Given the description of an element on the screen output the (x, y) to click on. 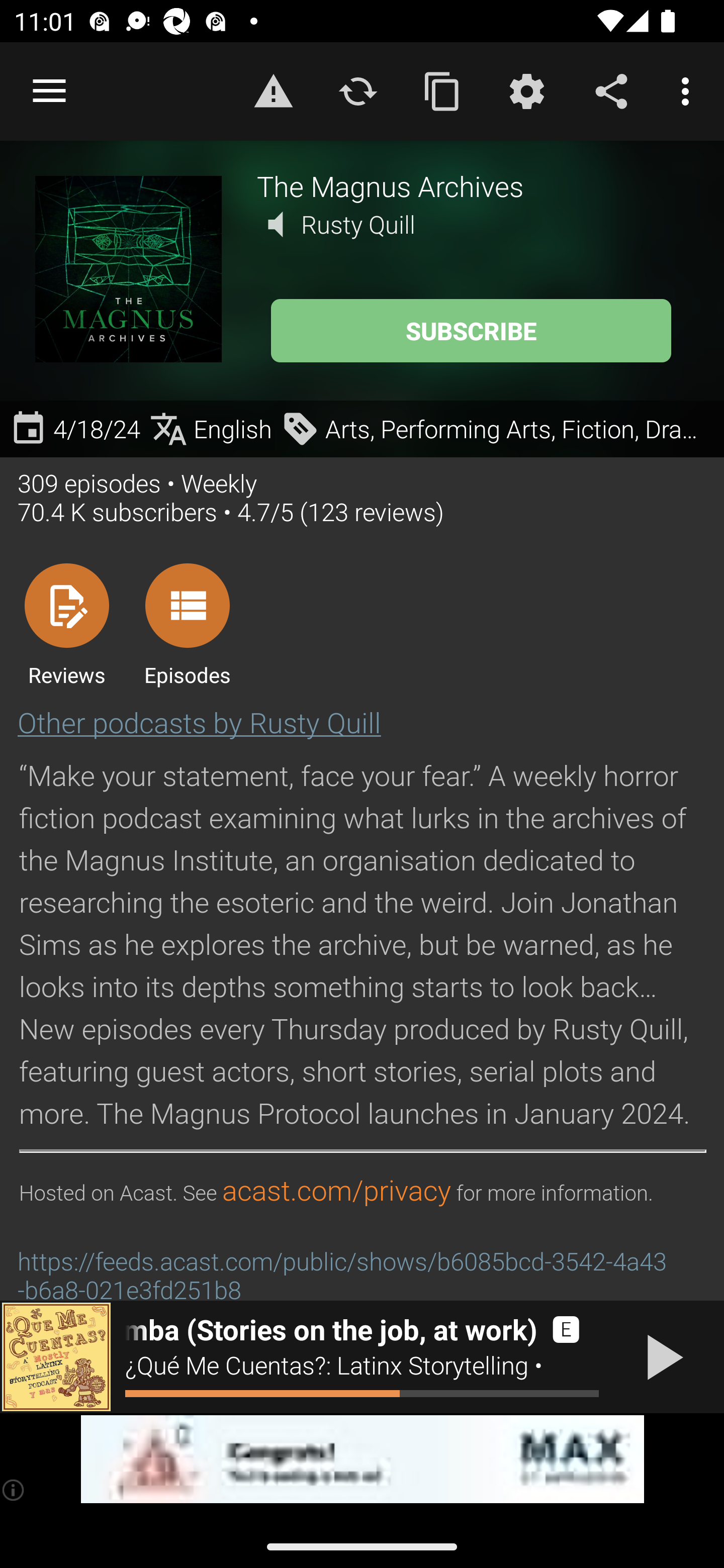
Open navigation sidebar (49, 91)
Report inappropriate content (272, 90)
Refresh podcast description (357, 90)
Copy feed url to clipboard (442, 90)
Custom Settings (526, 90)
Share the podcast (611, 90)
More options (688, 90)
The Magnus Archives (472, 185)
Rusty Quill (358, 223)
SUBSCRIBE (470, 330)
Arts, Performing Arts, Fiction, Drama, Fiction (497, 428)
Reviews (66, 623)
Episodes (187, 623)
Other podcasts by Rusty Quill (198, 721)
acast.com/privacy (336, 1191)
Play / Pause (660, 1356)
app-monetization (362, 1459)
(i) (14, 1489)
